Given the description of an element on the screen output the (x, y) to click on. 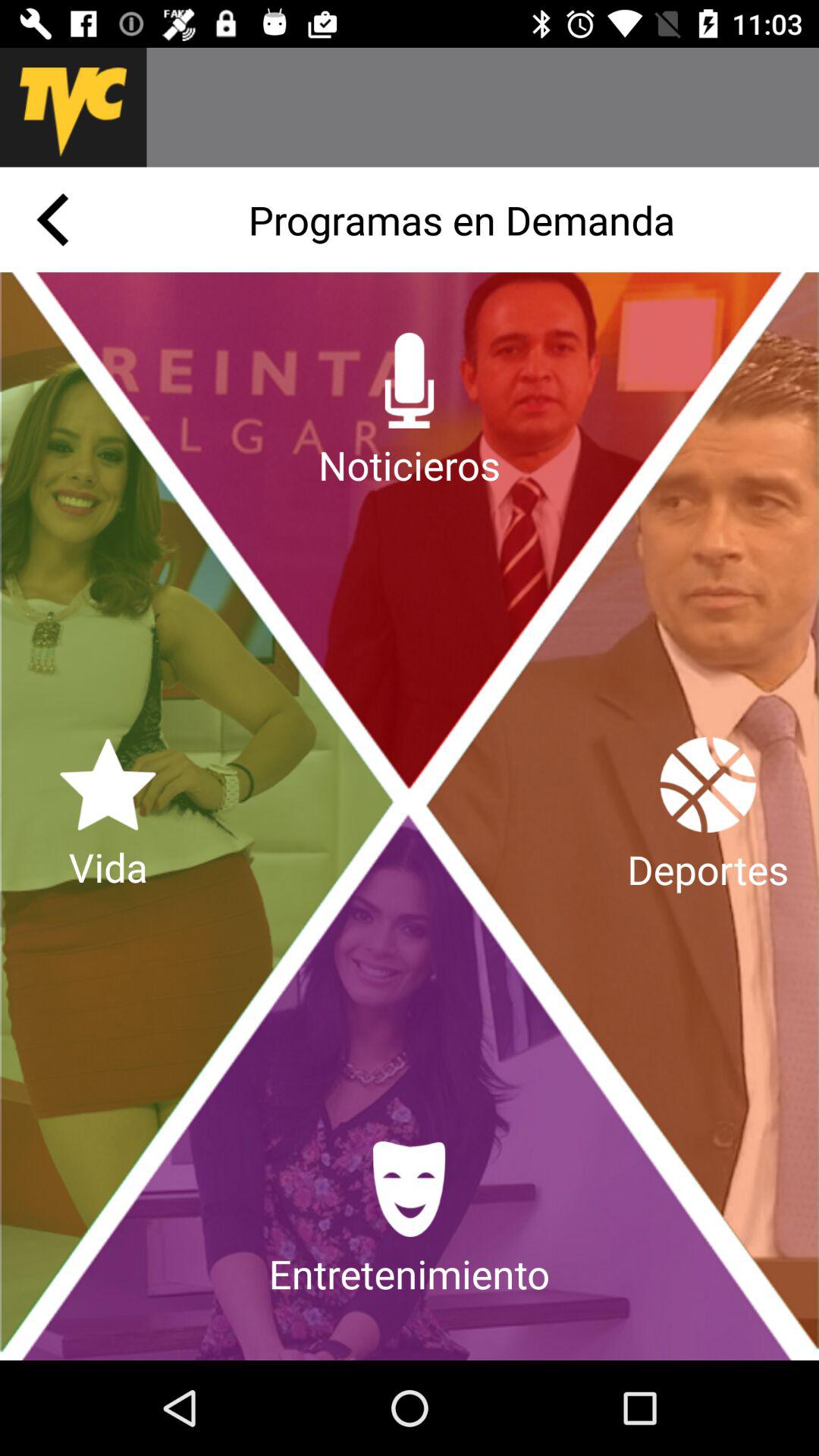
advertisement (482, 107)
